Given the description of an element on the screen output the (x, y) to click on. 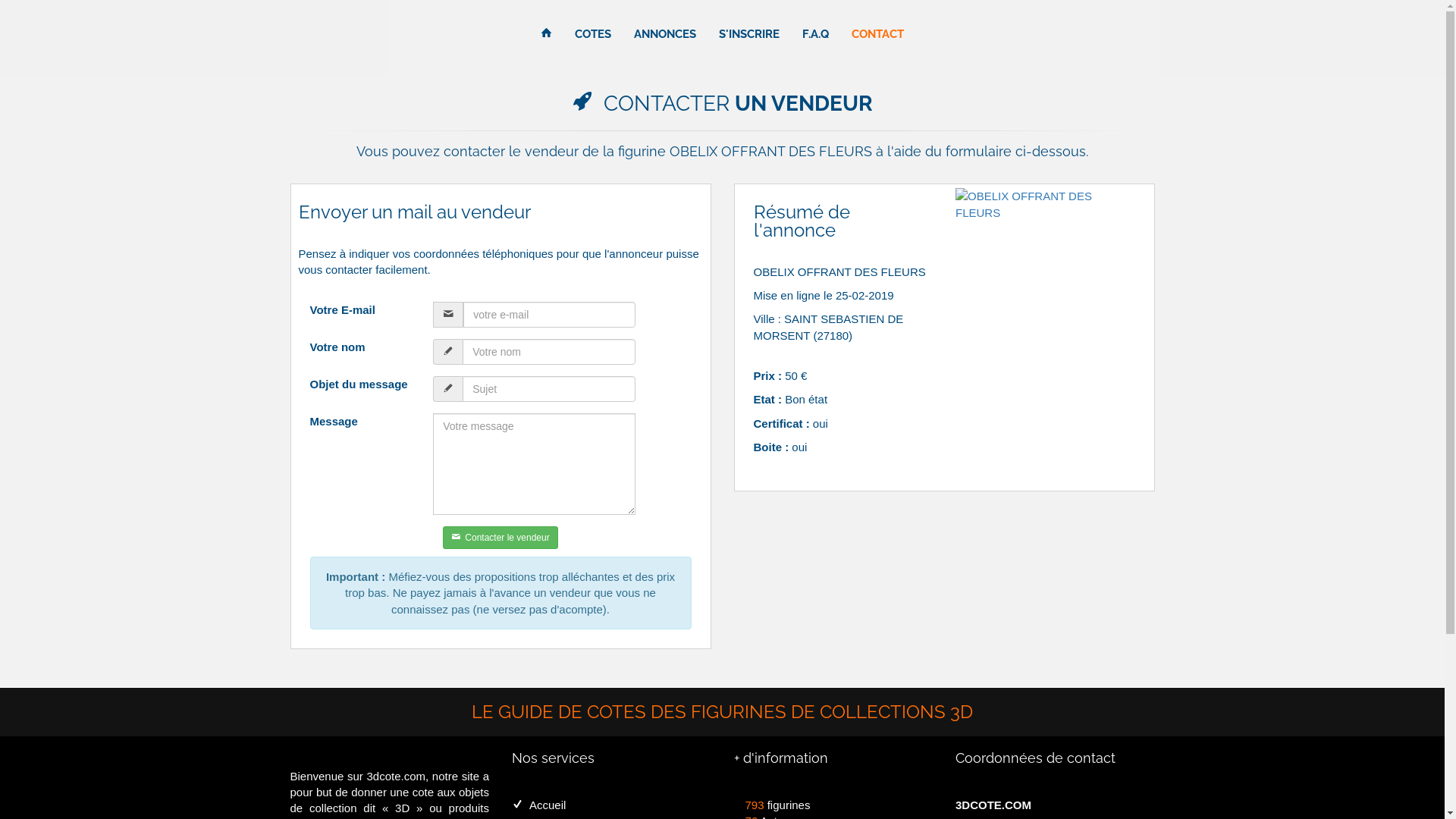
CONTACT Element type: text (877, 34)
F.A.Q Element type: text (815, 34)
Accueil Element type: text (538, 804)
COTES Element type: text (592, 34)
Contacter le vendeur Element type: text (499, 537)
ANNONCES Element type: text (664, 34)
S'INSCRIRE Element type: text (748, 34)
UDERZO / MARIE LEBLON / LEBLON DELIENNE Element type: hover (1045, 204)
